Given the description of an element on the screen output the (x, y) to click on. 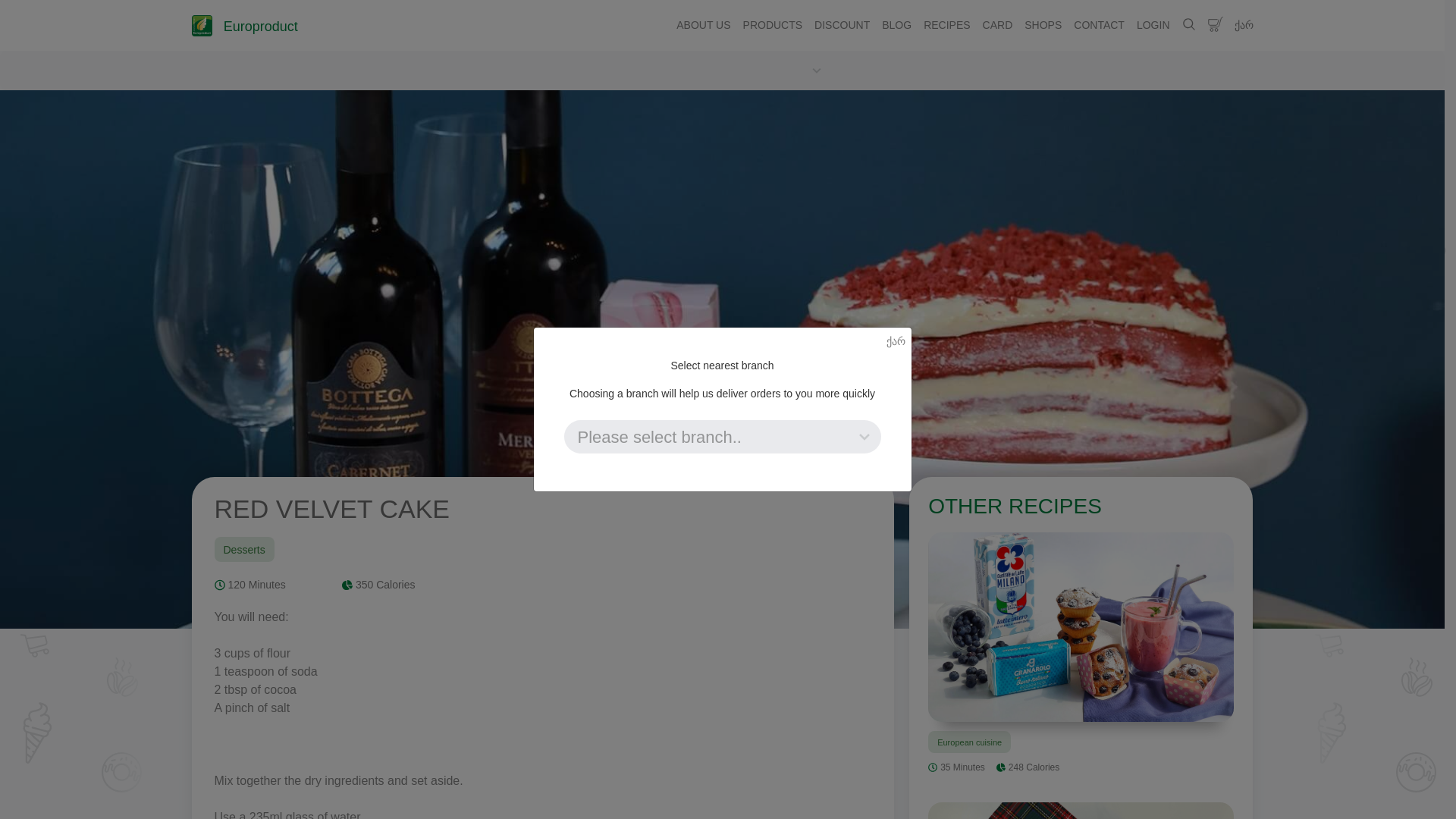
ABOUT US (702, 24)
SHOPS (1042, 24)
Please select branch.. (722, 436)
LOGIN (1080, 657)
RECIPES (1153, 24)
PRODUCTS (946, 24)
DISCOUNT (772, 24)
CARD (842, 24)
Europroduct (997, 24)
CONTACT (243, 25)
BLOG (1099, 24)
